Given the description of an element on the screen output the (x, y) to click on. 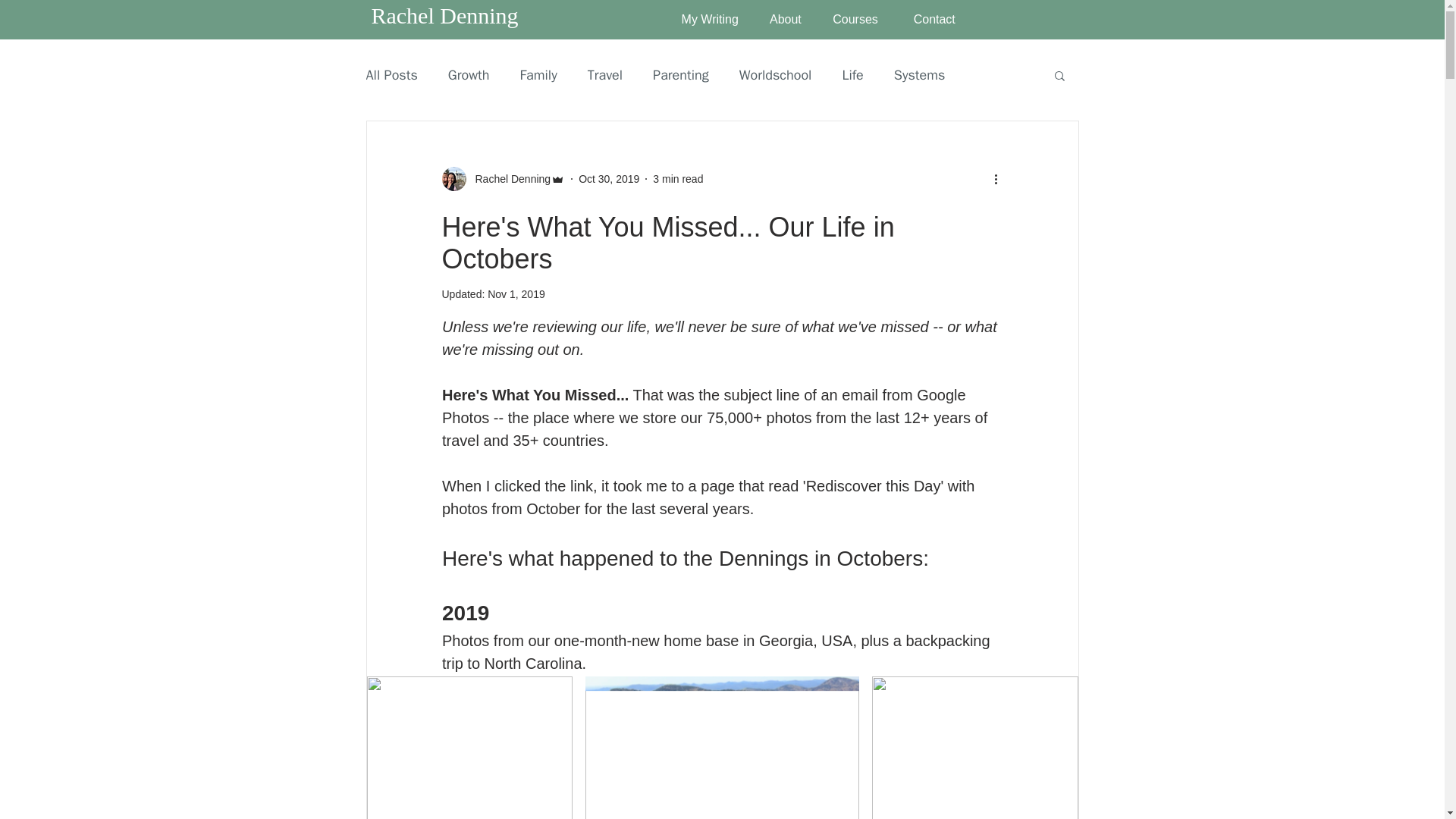
3 min read (677, 178)
Systems (918, 75)
Rachel Denning (507, 179)
My Writing (704, 19)
Contact (927, 19)
Worldschool (775, 75)
Parenting (680, 75)
Rachel Denning (444, 15)
Family (537, 75)
Life (852, 75)
All Posts (390, 75)
About (780, 19)
Oct 30, 2019 (608, 178)
Rachel Denning (502, 178)
Nov 1, 2019 (515, 294)
